Given the description of an element on the screen output the (x, y) to click on. 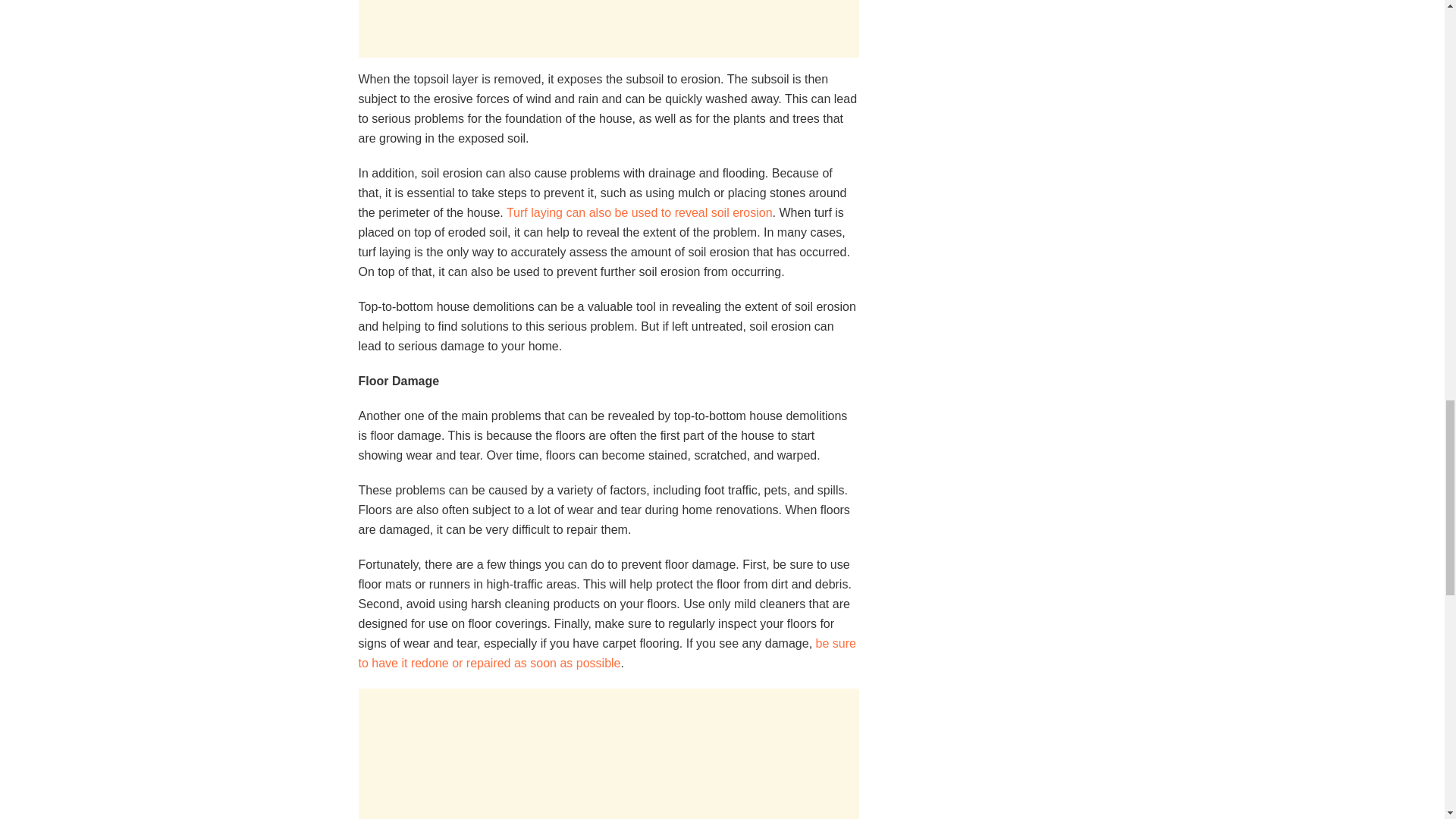
Advertisement (608, 28)
Advertisement (608, 753)
